Given the description of an element on the screen output the (x, y) to click on. 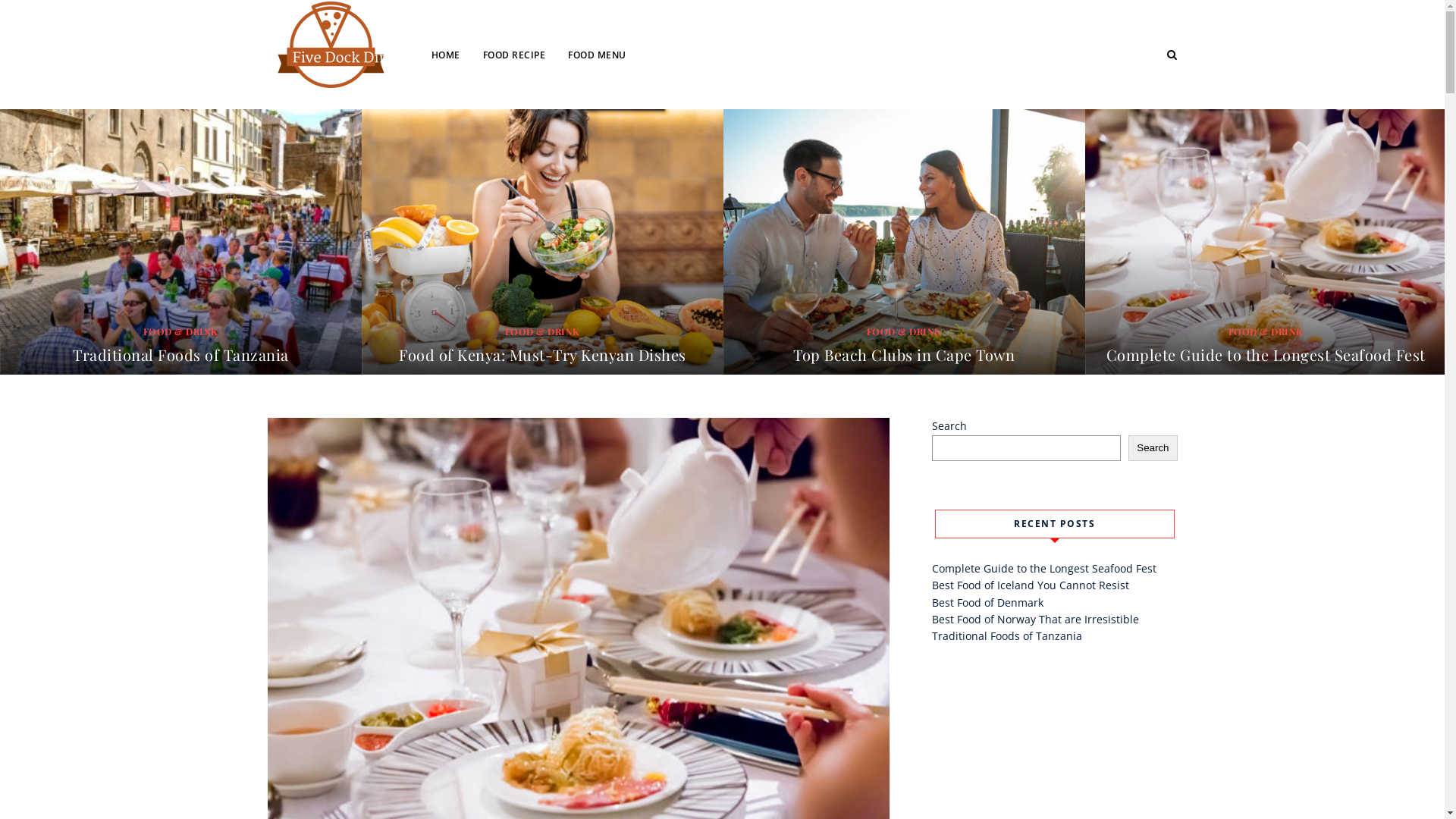
NOVEMBER 22, 2023 Element type: text (164, 378)
Best Food of Norway That are Irresistible Element type: text (180, 354)
FOOD MENU Element type: text (596, 54)
Traditional Foods of Tanzania Element type: text (1006, 635)
NOVEMBER 22, 2023 Element type: text (888, 378)
FOOD & DRINK Element type: text (542, 331)
FOOD RECIPE Element type: text (524, 54)
Best Food of Iceland You Cannot Resist Element type: text (1029, 584)
Traditional Foods of Tanzania Element type: text (542, 354)
NOVEMBER 22, 2023 Element type: text (526, 378)
Search Element type: text (1152, 448)
Best Food of Norway That are Irresistible Element type: text (1034, 618)
FOOD & DRINK Element type: text (180, 331)
FOOD & DRINK Element type: text (1265, 331)
Food of Kenya: Must-Try Kenyan Dishes Element type: text (904, 354)
HOME Element type: text (456, 54)
FOOD & DRINK Element type: text (903, 331)
Top Beach Clubs in Cape Town Element type: text (1265, 354)
NOVEMBER 22, 2023 Element type: text (1249, 378)
Best Food of Denmark Element type: text (986, 602)
Complete Guide to the Longest Seafood Fest Element type: text (1043, 568)
